Given the description of an element on the screen output the (x, y) to click on. 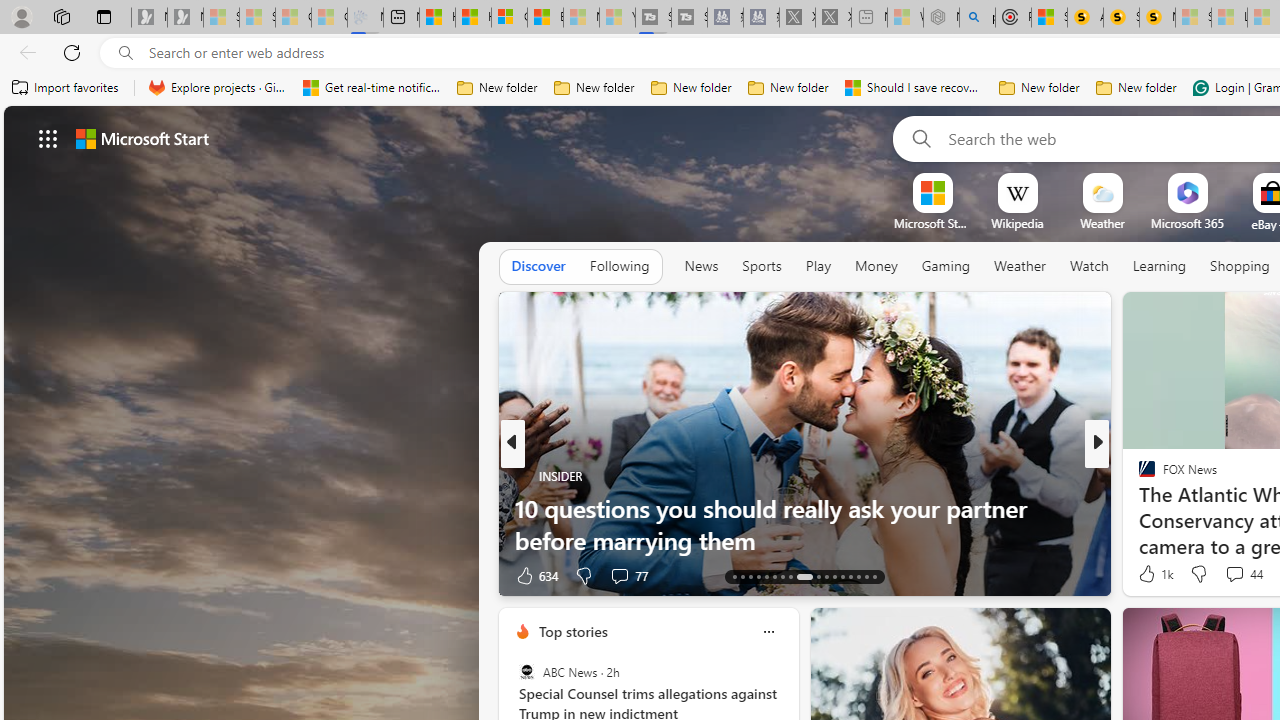
View comments 44 Comment (1234, 573)
Top stories (572, 631)
AutomationID: tab-16 (757, 576)
poe - Search (977, 17)
View comments 3 Comment (1234, 574)
AutomationID: tab-22 (818, 576)
Import favorites (65, 88)
App launcher (47, 138)
View comments 1 Comment (1234, 575)
